Given the description of an element on the screen output the (x, y) to click on. 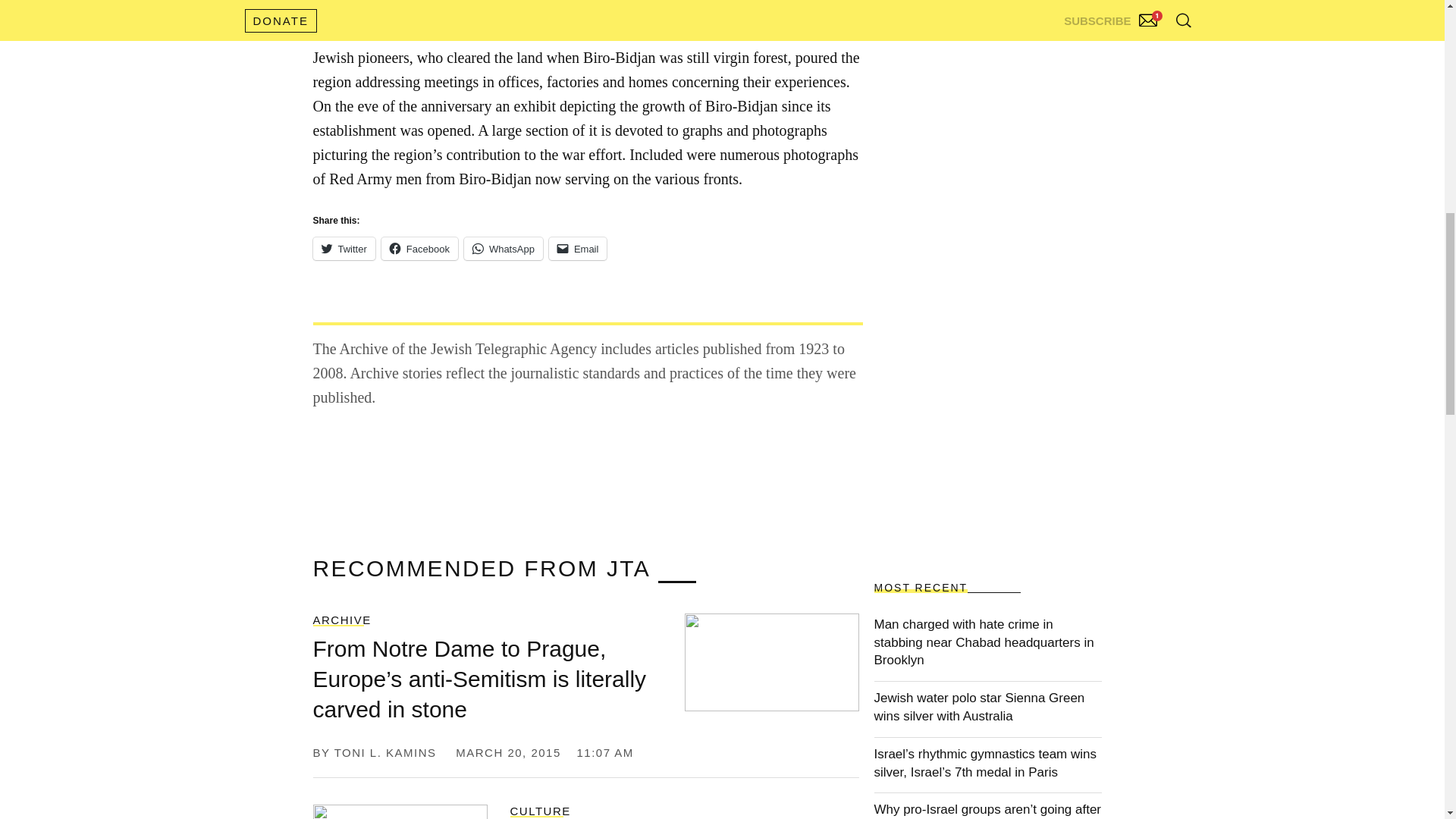
Click to share on Twitter (343, 248)
Click to share on Facebook (419, 248)
Click to share on WhatsApp (503, 248)
Click to email a link to a friend (577, 248)
